Given the description of an element on the screen output the (x, y) to click on. 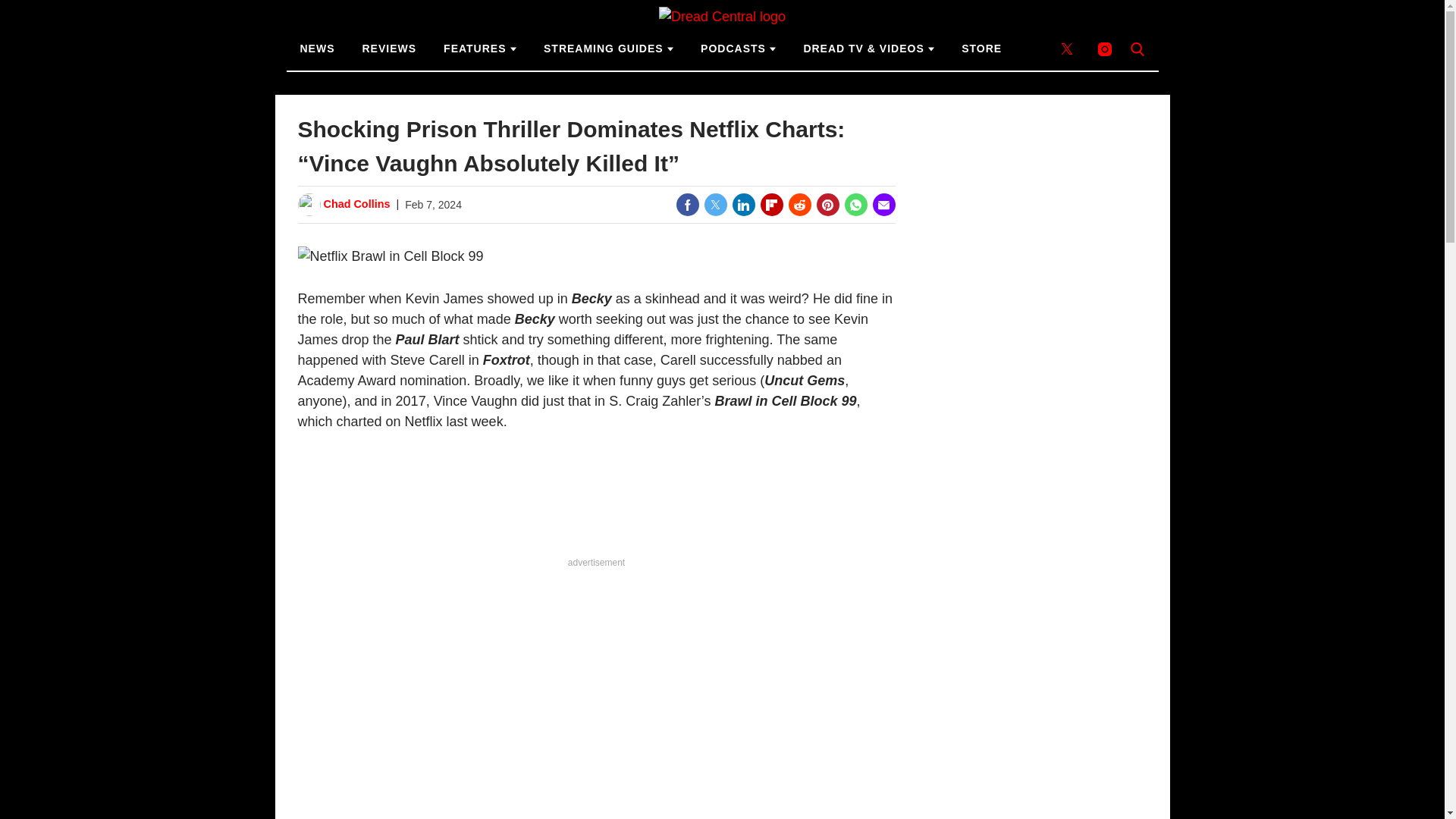
STREAMING GUIDES (608, 48)
Posts by Chad Collins (356, 204)
Share on Pinterest (826, 204)
REVIEWS (389, 48)
Share on Reddit (799, 204)
NEWS (317, 48)
Share on Facebook (687, 204)
Chad Collins (356, 204)
Share on Flipboard (771, 204)
FEATURES (479, 48)
